Given the description of an element on the screen output the (x, y) to click on. 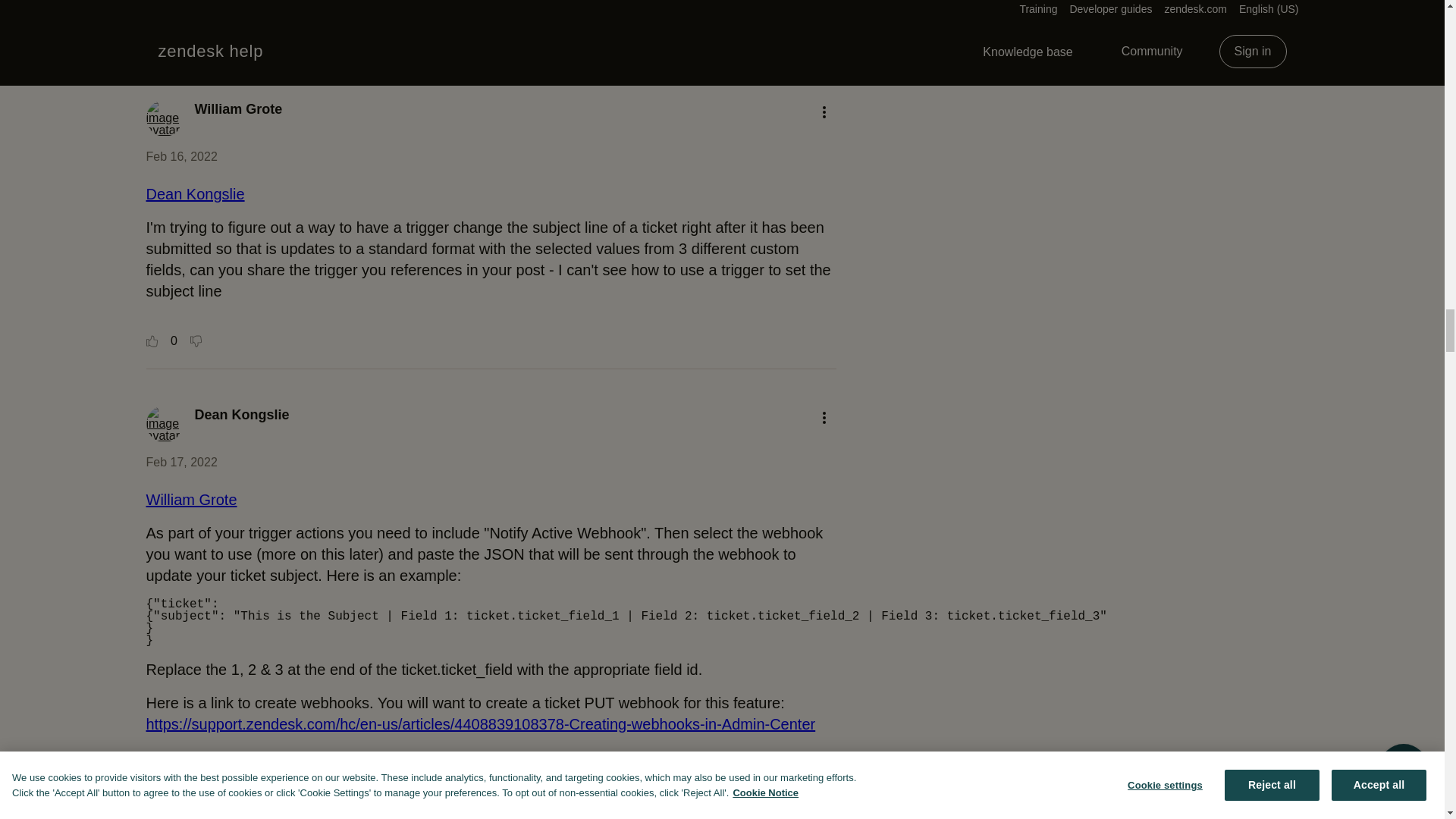
Feb 16, 2022 (180, 155)
Feb 17, 2022 (180, 461)
